Given the description of an element on the screen output the (x, y) to click on. 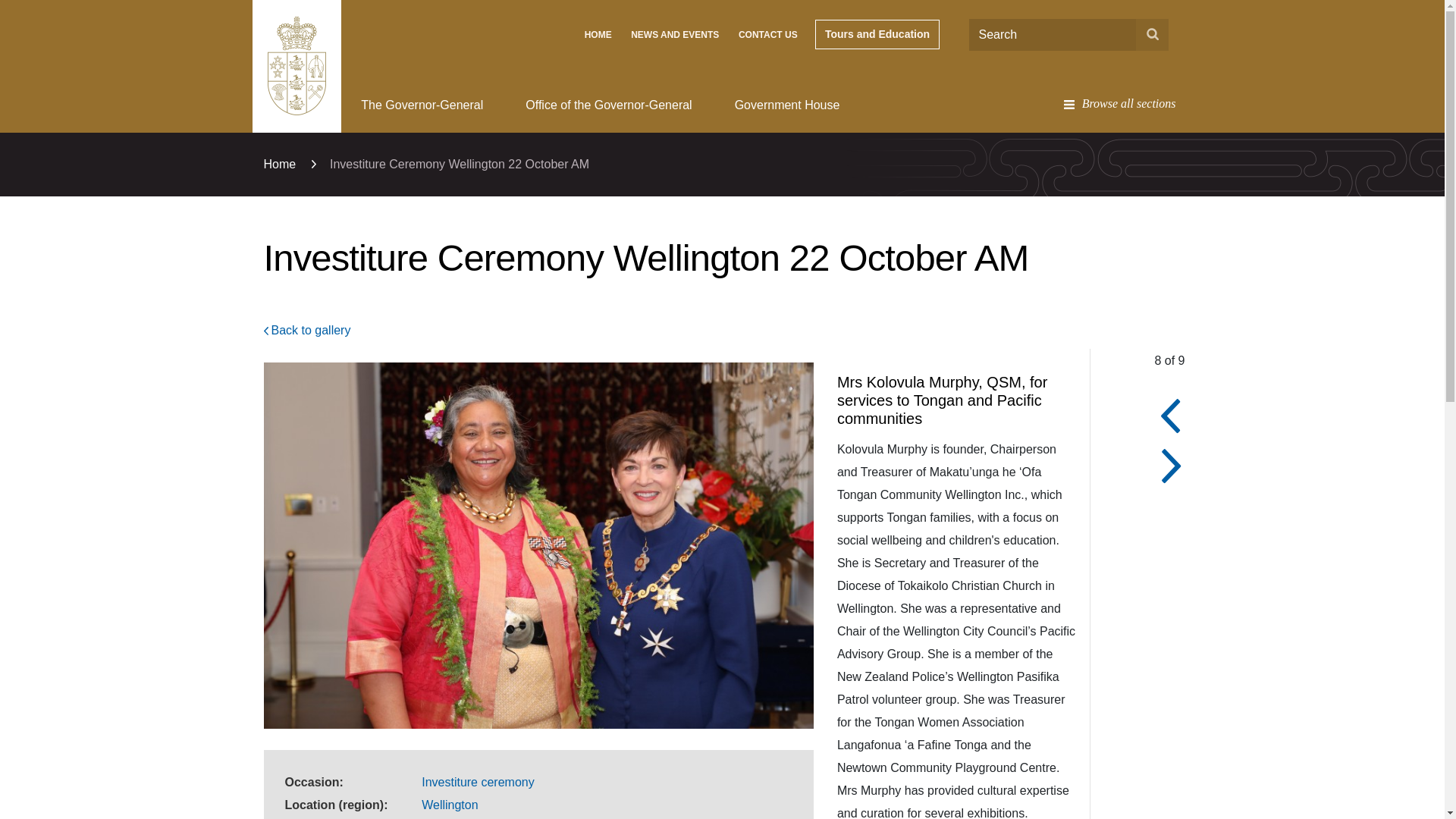
HOME (597, 35)
Search (1152, 34)
CONTACT US (767, 35)
NEWS AND EVENTS (674, 35)
Search (1152, 34)
The Governor-General (421, 104)
Tours and Education (877, 34)
Skip to main content (722, 5)
Office of the Governor-General (608, 104)
